Given the description of an element on the screen output the (x, y) to click on. 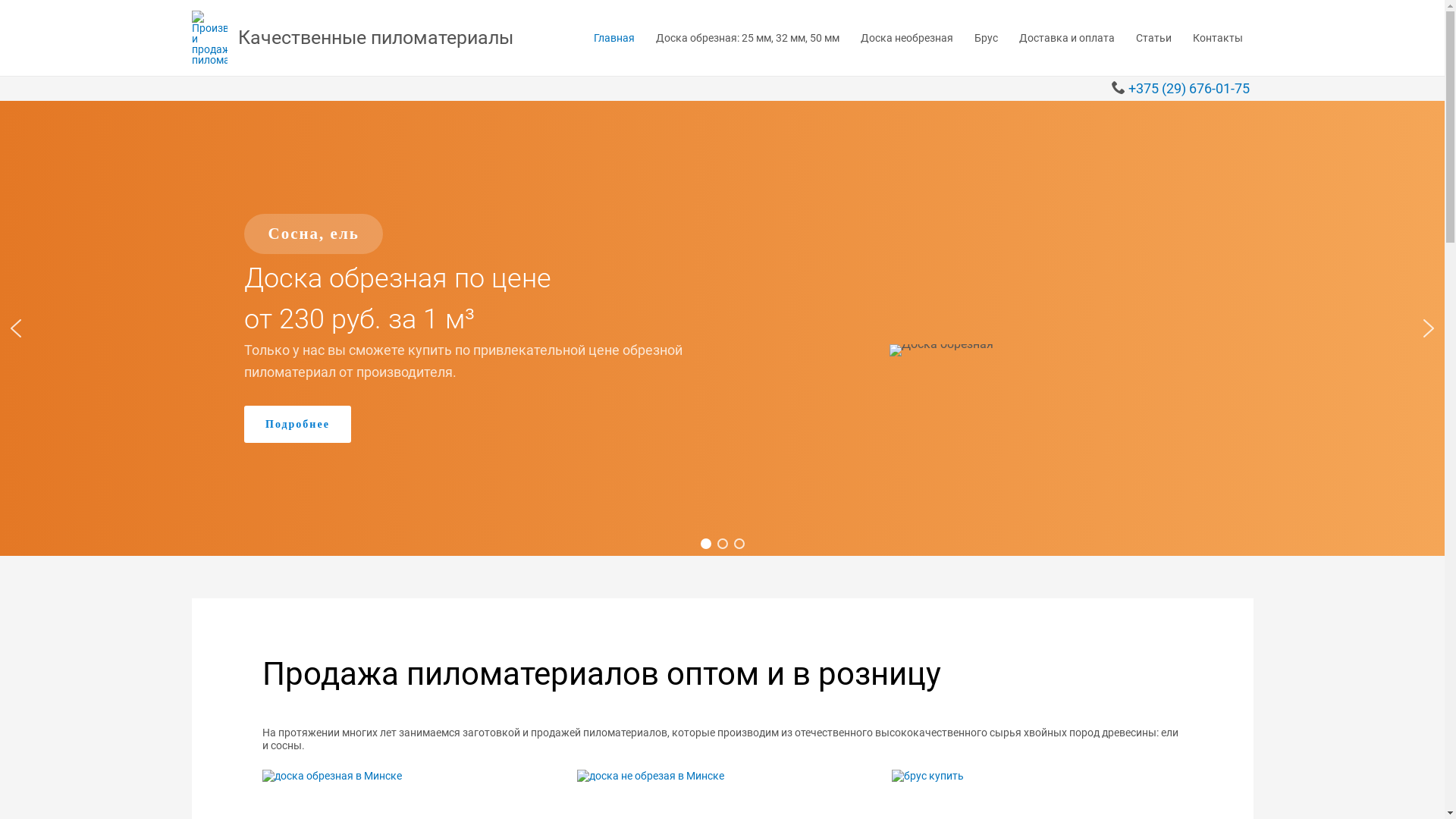
+375 (29) 676-01-75 Element type: text (1188, 88)
